Given the description of an element on the screen output the (x, y) to click on. 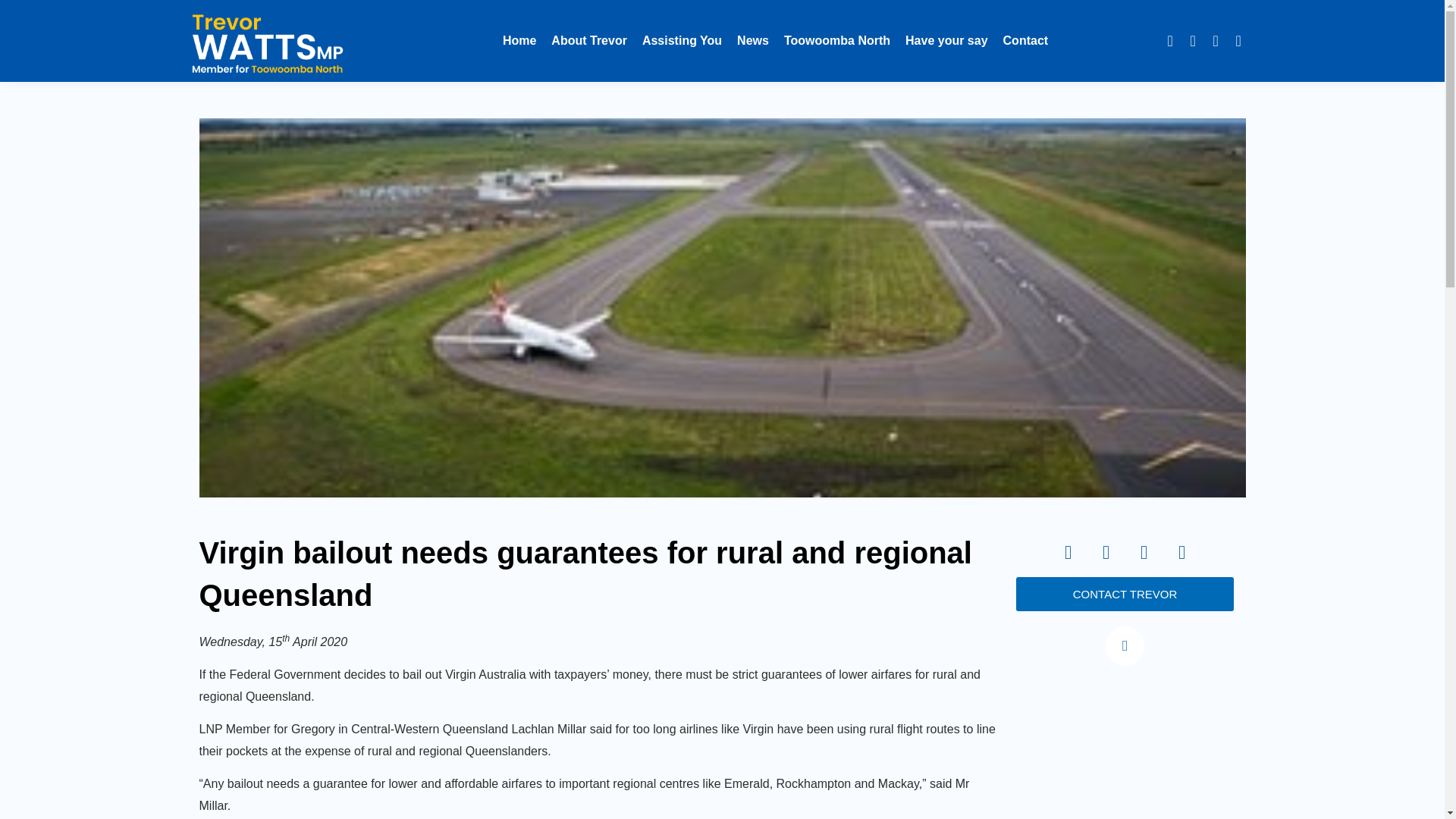
CONTACT TREVOR (1125, 593)
Assisting You (682, 40)
Toowoomba North (836, 40)
About Trevor (589, 40)
Have your say (946, 40)
